Given the description of an element on the screen output the (x, y) to click on. 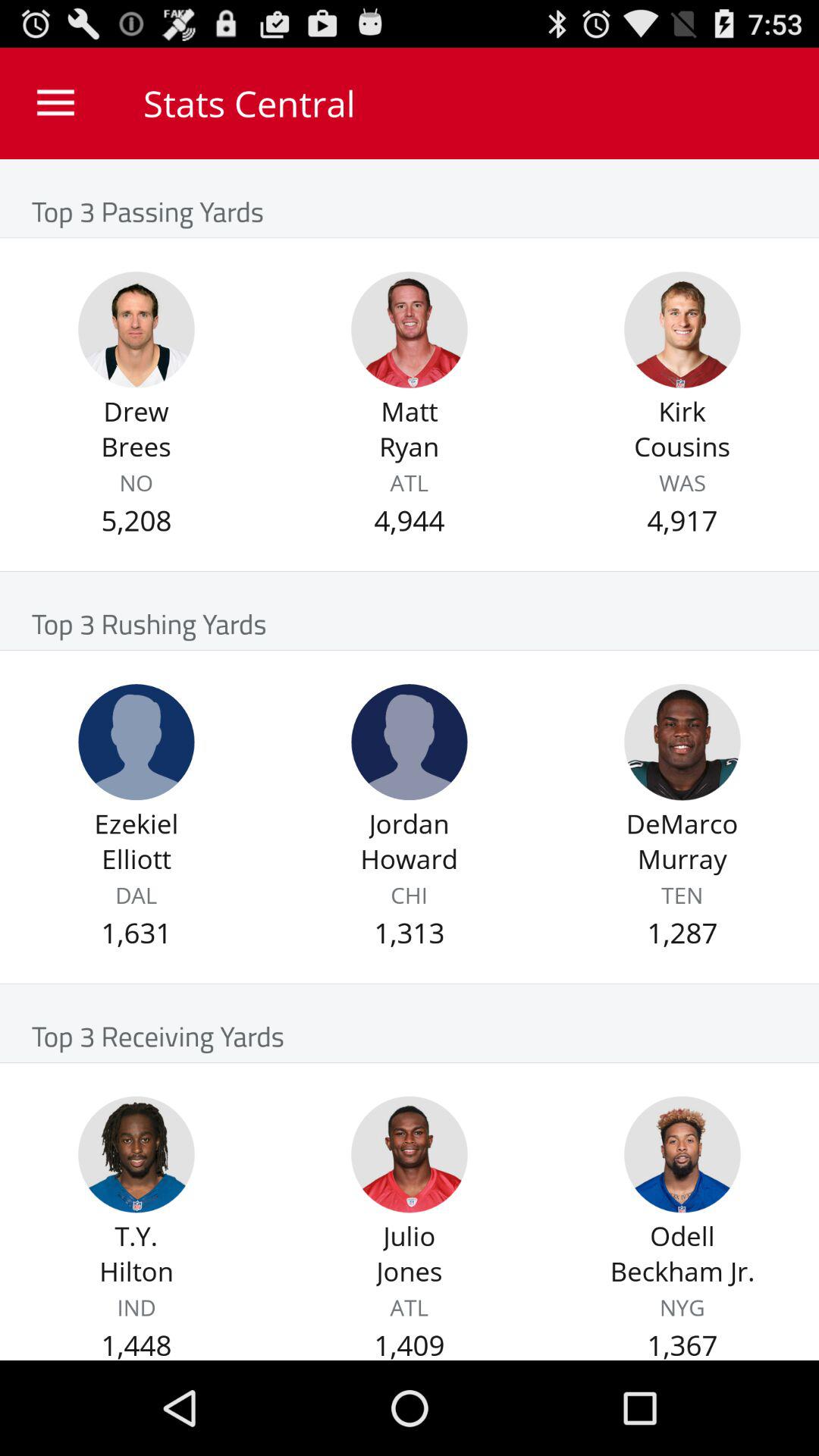
see demarco murray stats (682, 741)
